Given the description of an element on the screen output the (x, y) to click on. 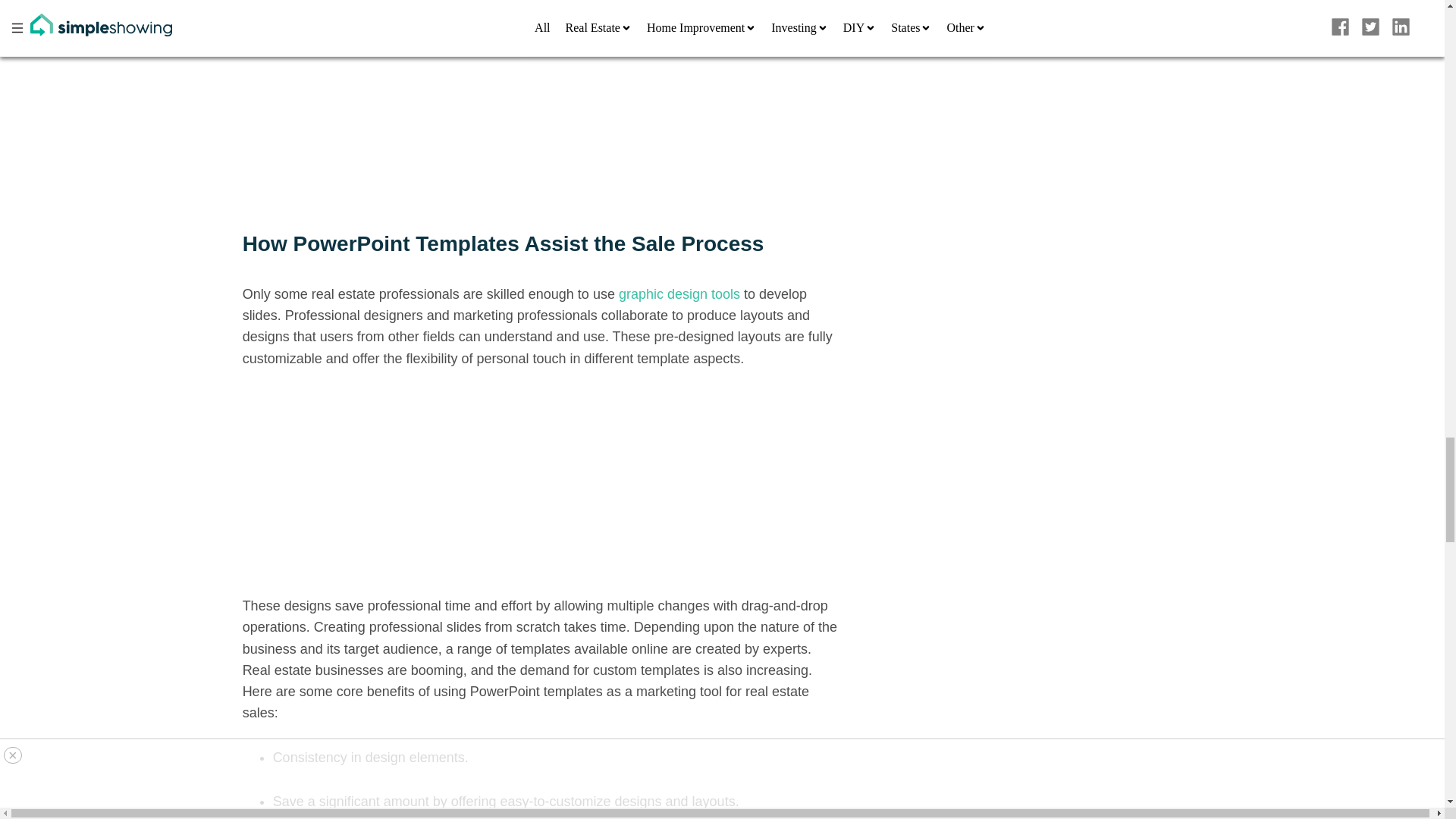
graphic design tools (678, 294)
